Given the description of an element on the screen output the (x, y) to click on. 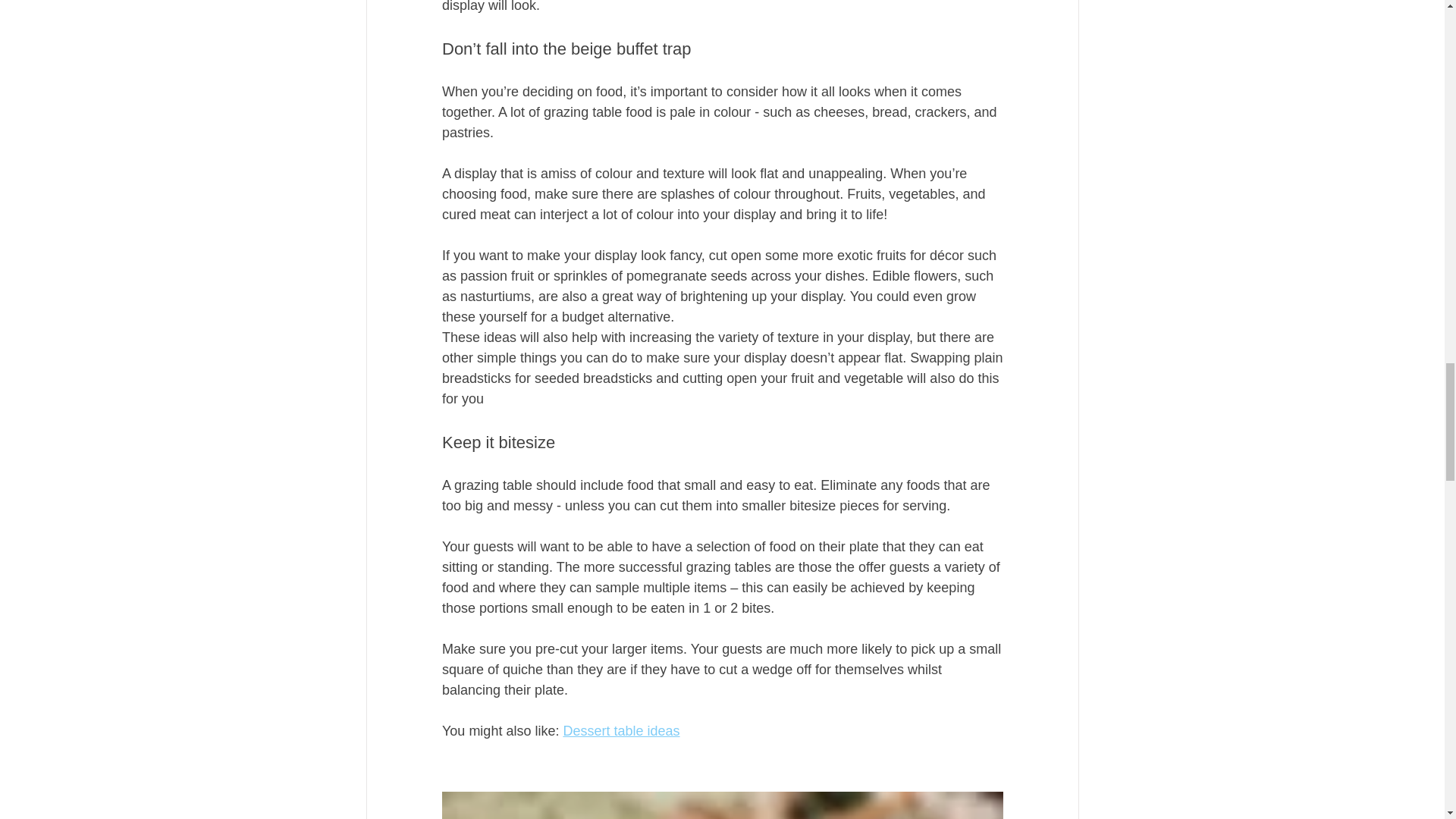
Dessert table ideas (620, 730)
